Given the description of an element on the screen output the (x, y) to click on. 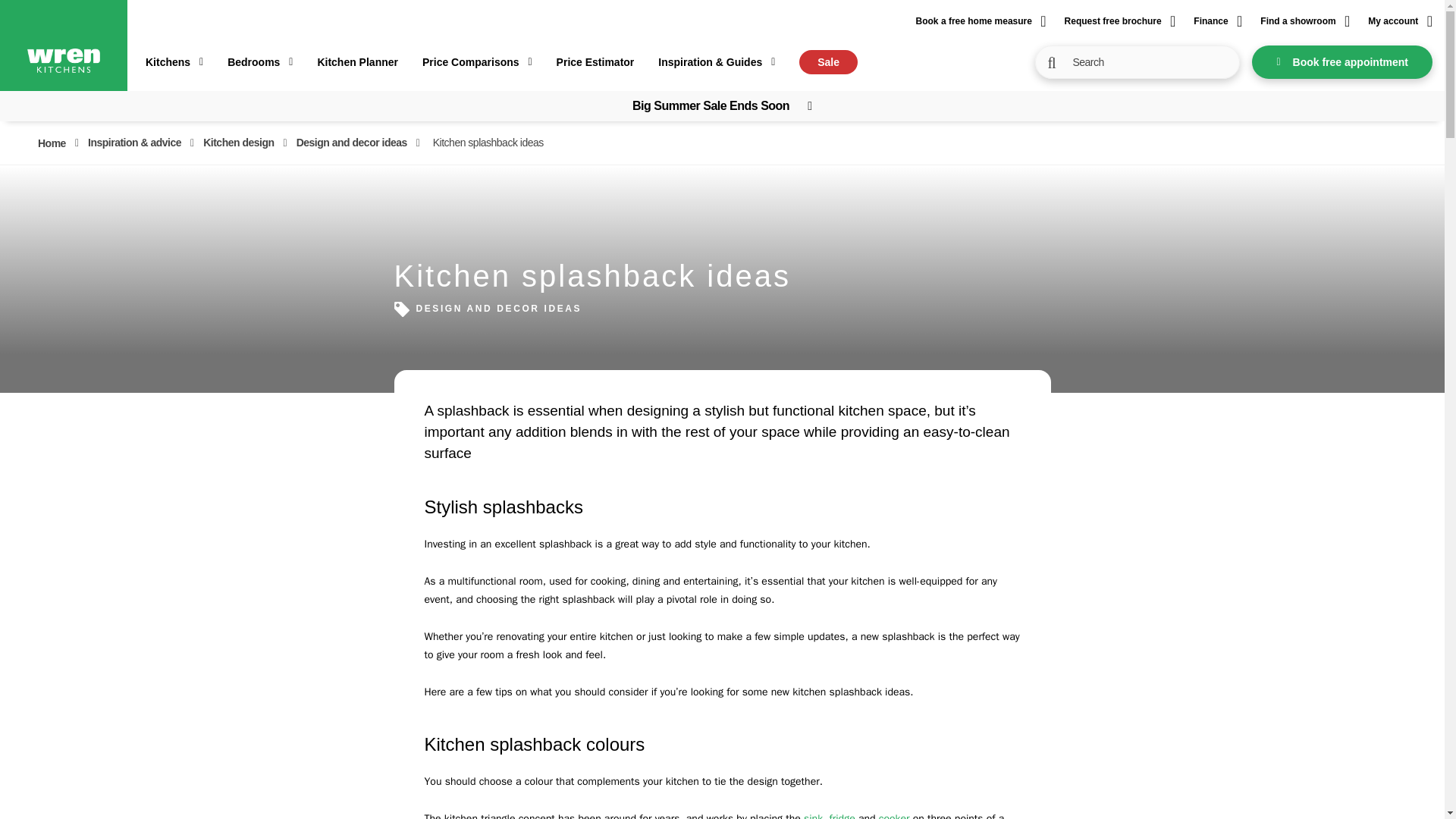
Request free brochure (1120, 21)
Design and decor ideas (352, 142)
Bedrooms (259, 62)
Kitchen design (238, 142)
Kitchens (174, 62)
My account (1400, 21)
Finance (1217, 21)
Book a free home measure (980, 21)
Find a showroom (1304, 21)
Home (51, 143)
